Given the description of an element on the screen output the (x, y) to click on. 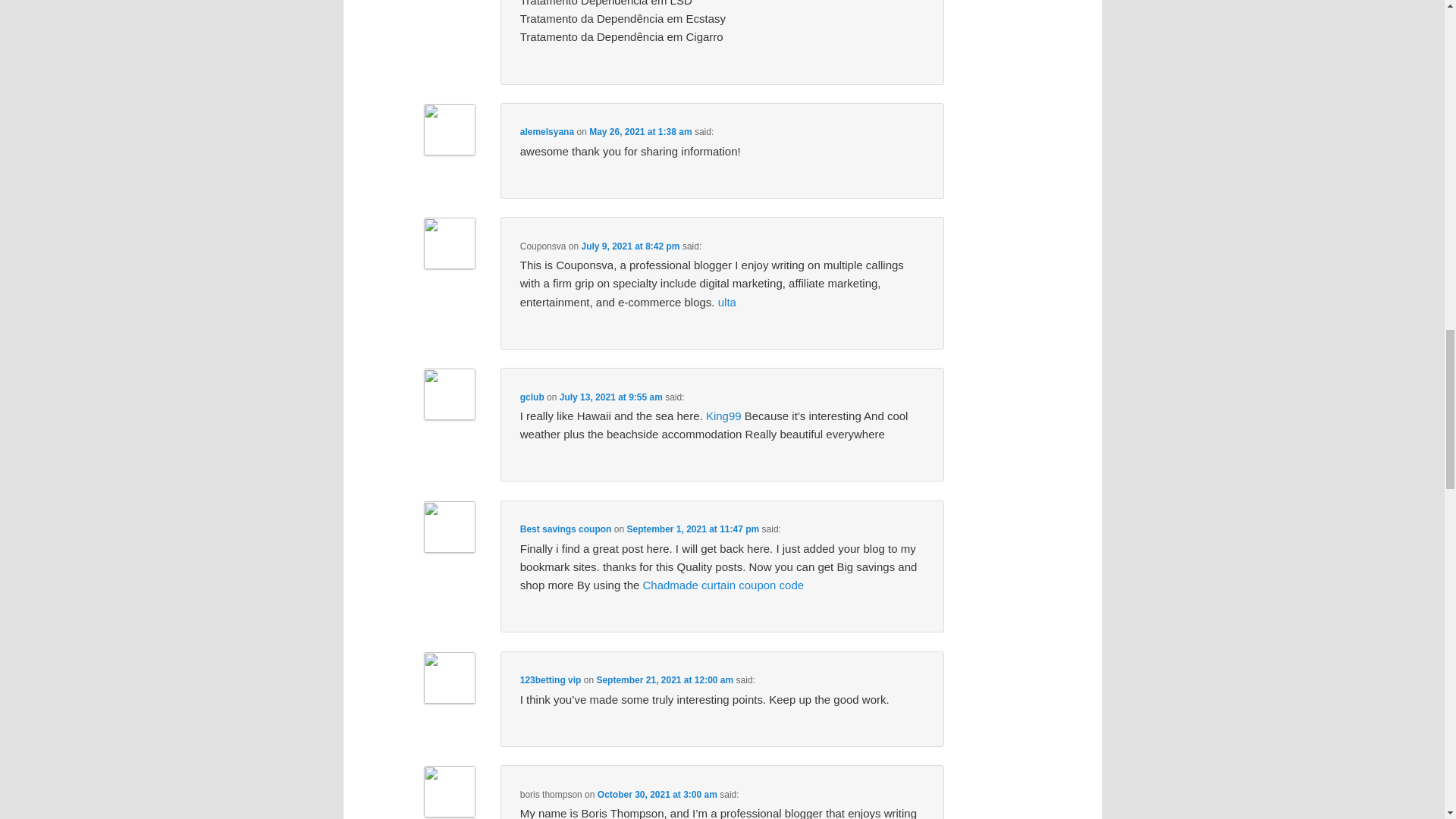
September 21, 2021 at 12:00 am (664, 679)
gclub (531, 397)
October 30, 2021 at 3:00 am (656, 793)
July 13, 2021 at 9:55 am (610, 397)
May 26, 2021 at 1:38 am (640, 131)
September 1, 2021 at 11:47 pm (692, 529)
123betting vip (549, 679)
ulta (726, 301)
July 9, 2021 at 8:42 pm (629, 245)
King99 (723, 415)
